Given the description of an element on the screen output the (x, y) to click on. 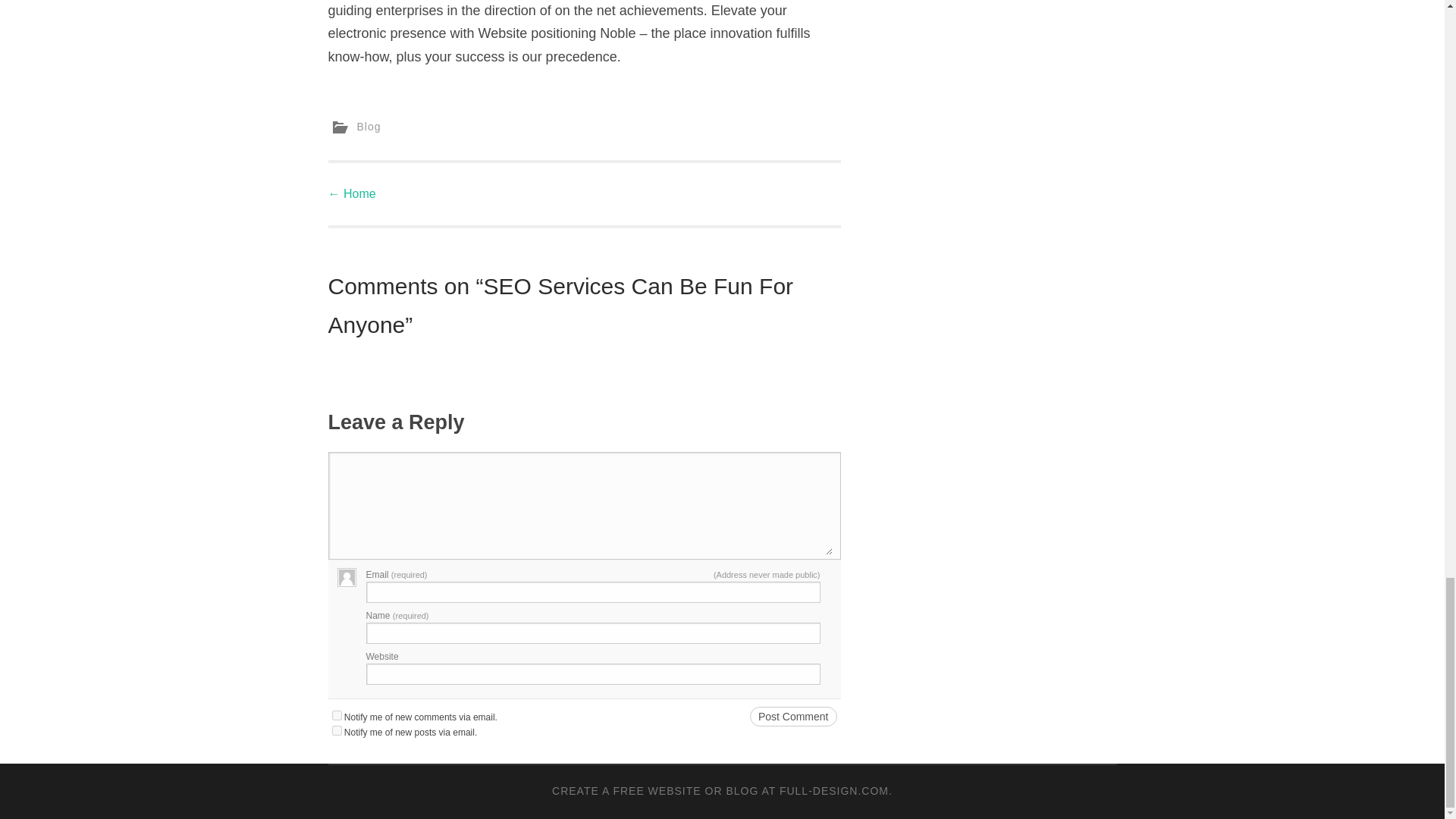
subscribe (336, 715)
CREATE A FREE WEBSITE OR BLOG AT FULL-DESIGN.COM (719, 790)
subscribe (336, 730)
Enter your comment here... (584, 507)
Post Comment (793, 715)
Blog (368, 126)
Post Comment (793, 715)
